Given the description of an element on the screen output the (x, y) to click on. 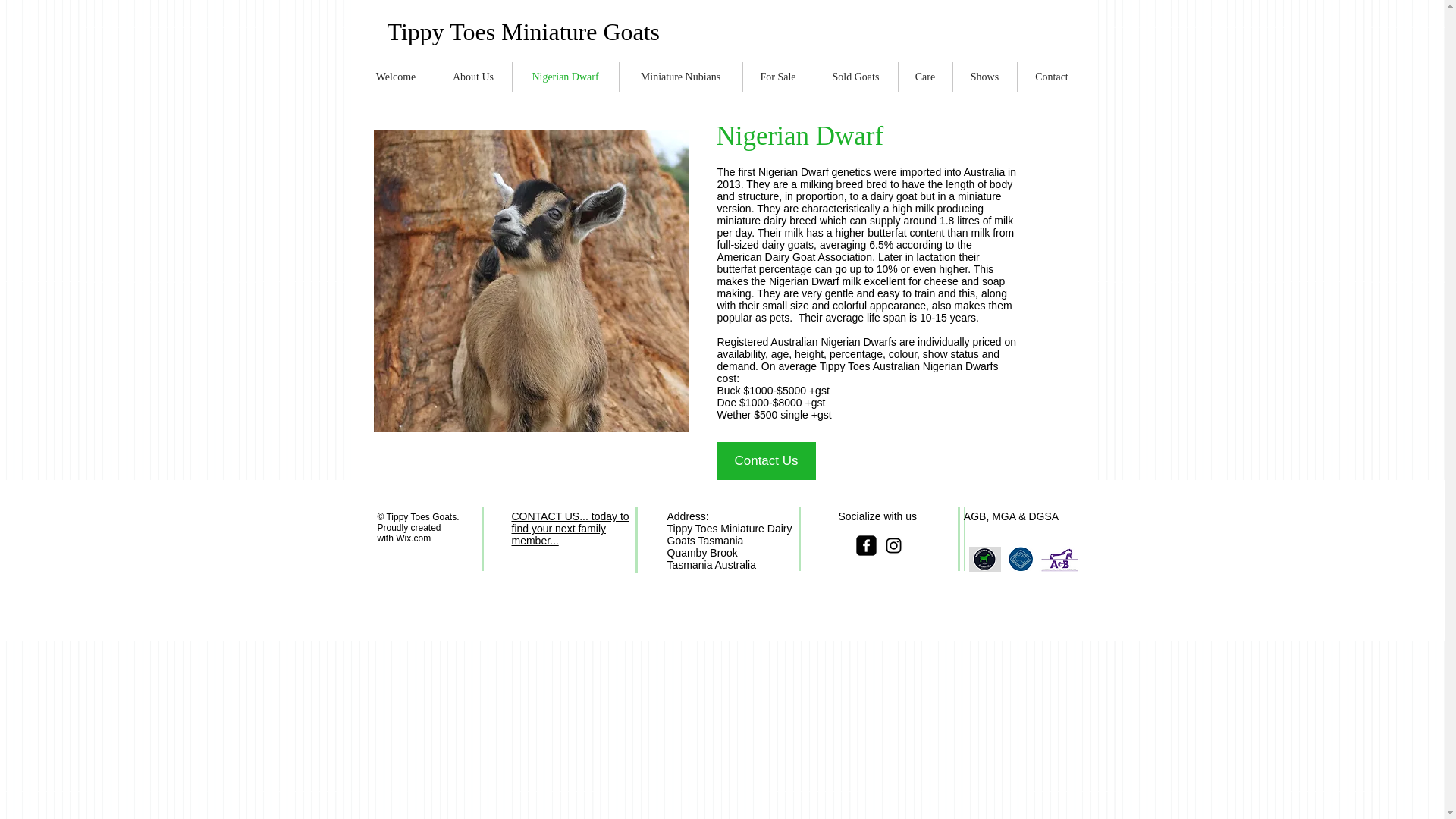
Welcome (395, 76)
Nigerian Dwarf (565, 76)
About Us (473, 76)
Miniature Nubians (679, 76)
Contact (1051, 76)
Shows (984, 76)
Wix.com (413, 538)
CONTACT US... today to find your next family member... (569, 528)
For Sale (777, 76)
Sold Goats (855, 76)
Care (925, 76)
Contact Us (766, 460)
